Given the description of an element on the screen output the (x, y) to click on. 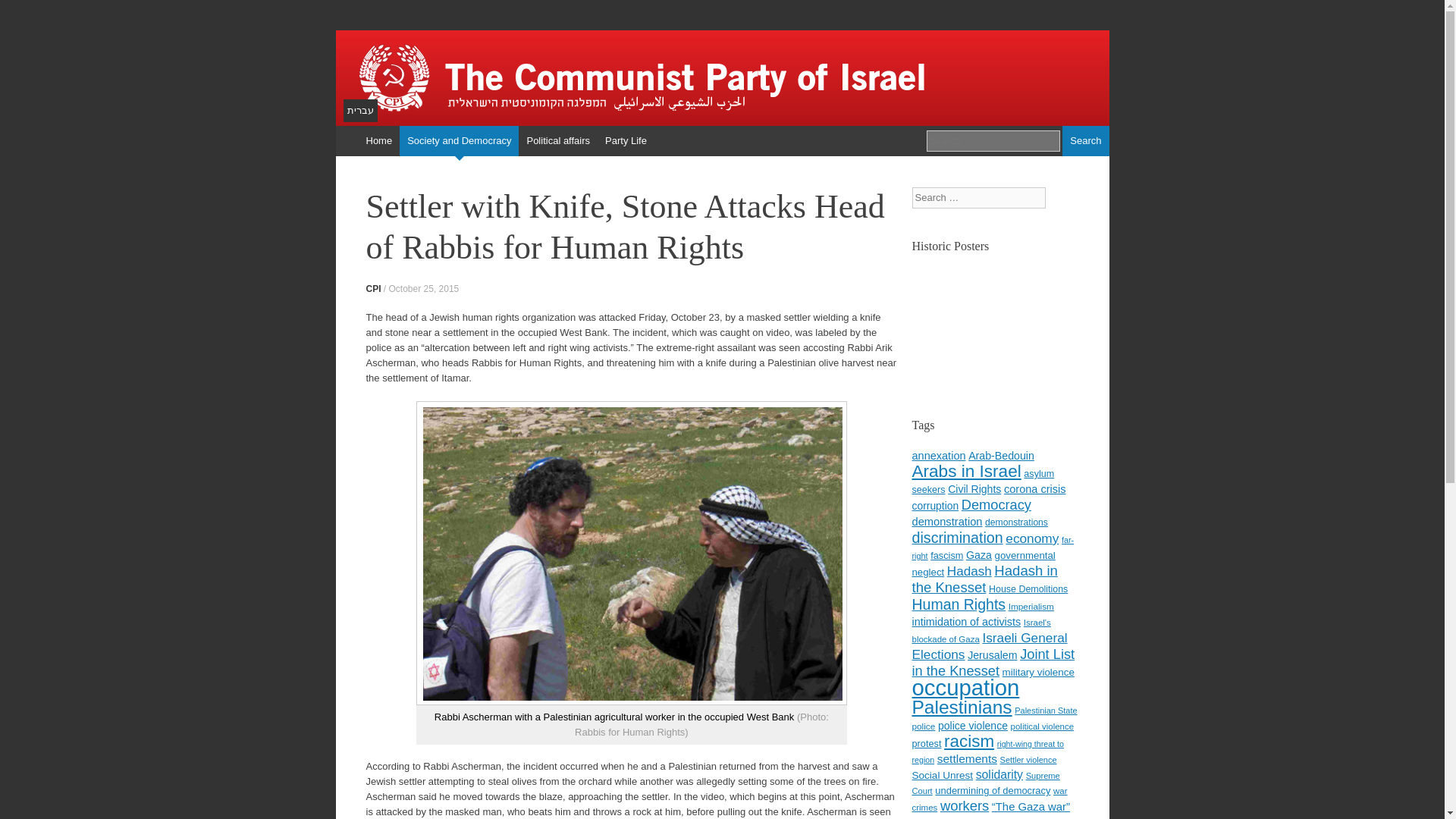
October 25, 2015 (424, 288)
Society and Democracy (458, 141)
Political affairs (557, 141)
CPI (372, 288)
Search (1085, 141)
Communist Party of Israel (721, 78)
Search (1085, 141)
Home (378, 141)
Communist Party of Israel (721, 78)
Party Life (624, 141)
